Given the description of an element on the screen output the (x, y) to click on. 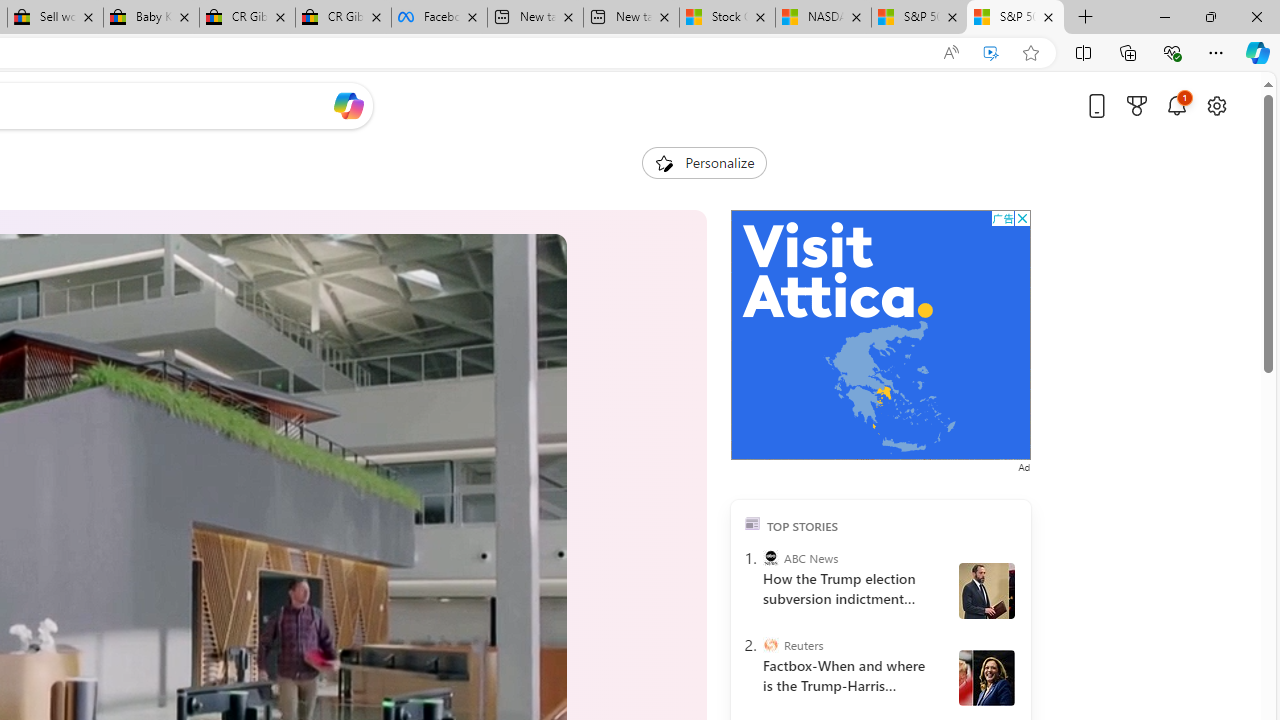
Open settings (1216, 105)
Reuters (770, 645)
ABC News (770, 557)
Enhance video (991, 53)
S&P 500, Nasdaq end lower, weighed by Nvidia dip | Watch (1015, 17)
